Given the description of an element on the screen output the (x, y) to click on. 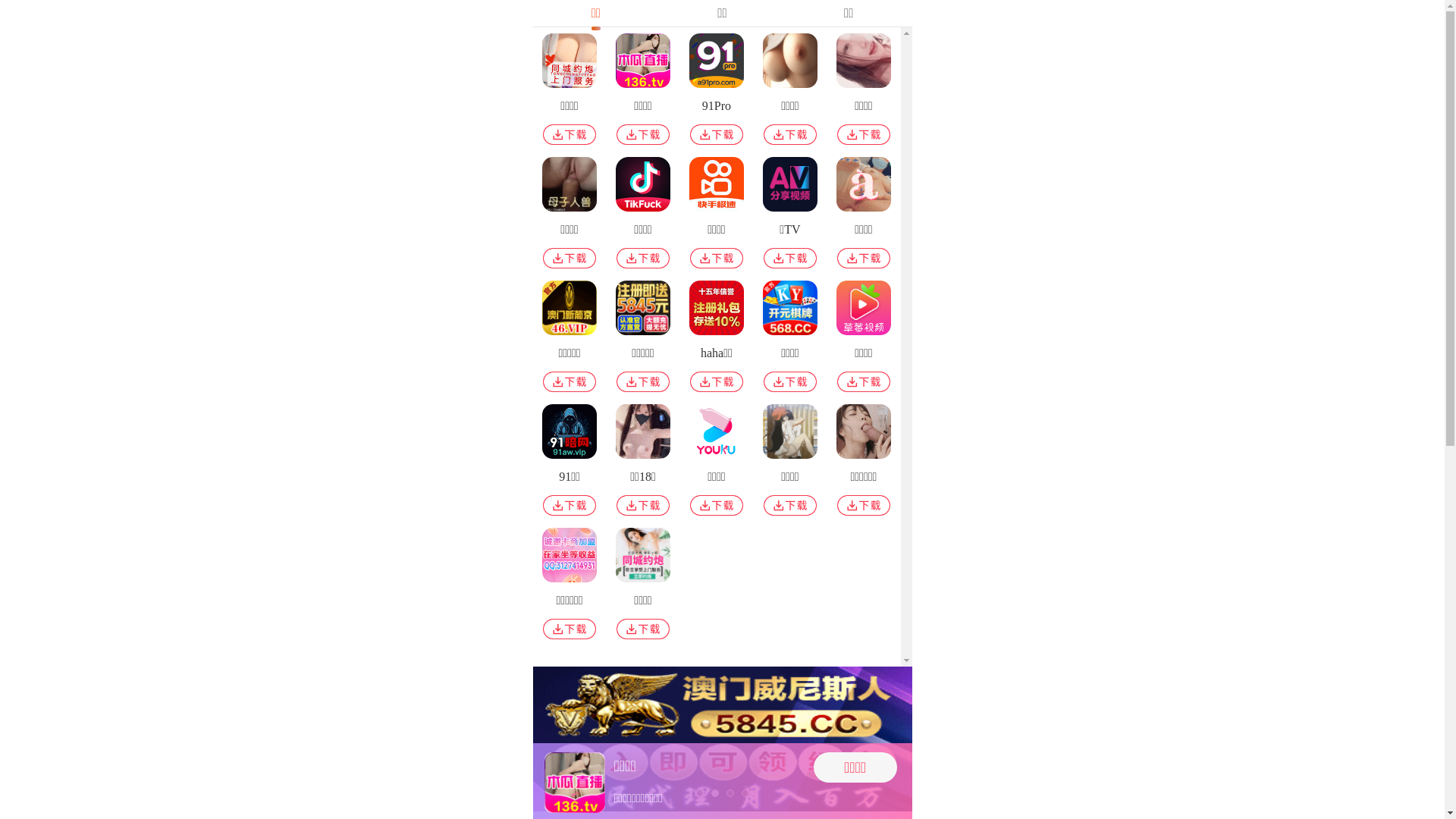
91Pro Element type: text (716, 91)
